Given the description of an element on the screen output the (x, y) to click on. 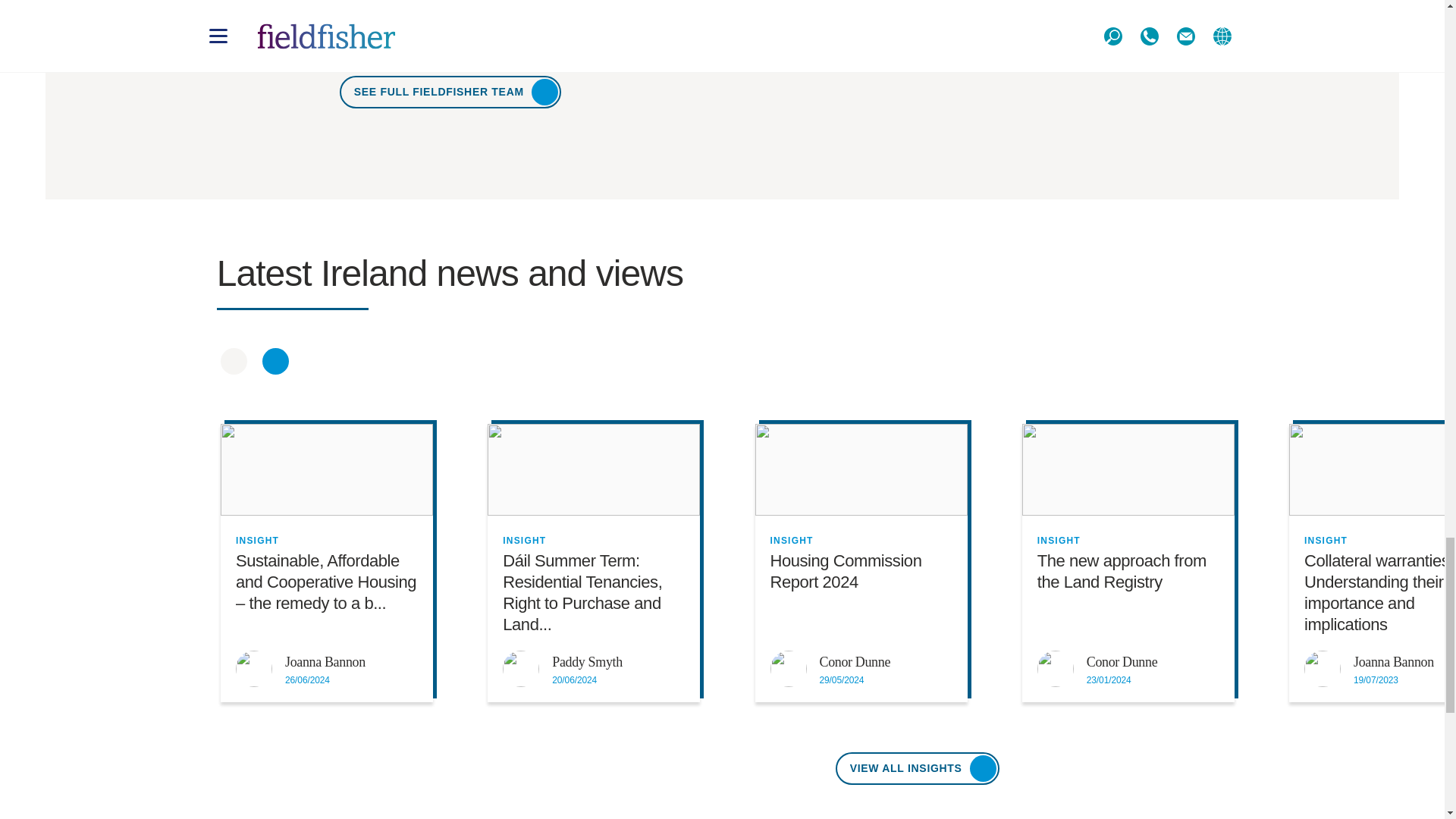
Housing Commission Report 2024 (860, 469)
The new approach from the Land Registry (1128, 469)
